Given the description of an element on the screen output the (x, y) to click on. 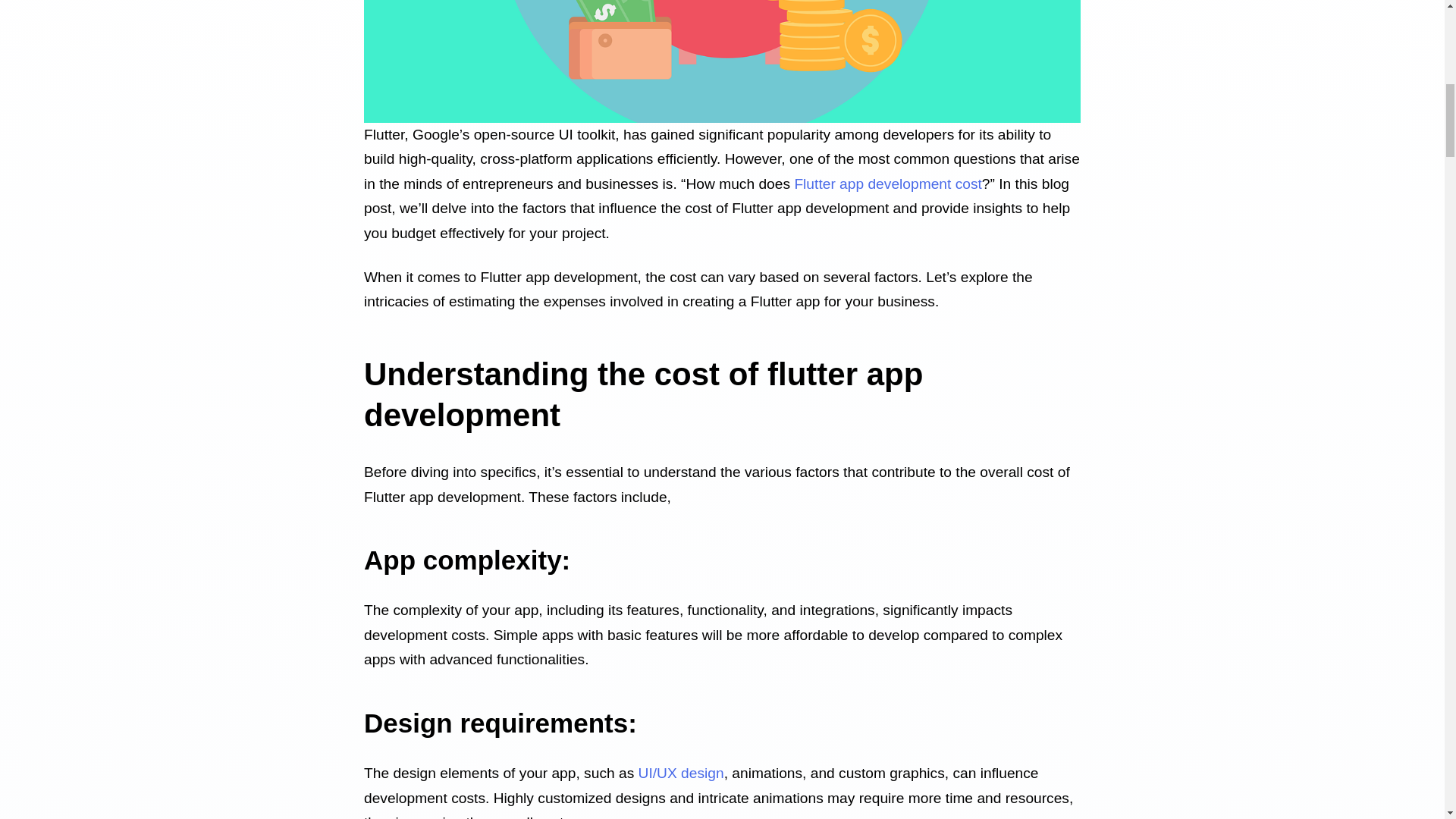
Flutter app development cost (887, 183)
